Given the description of an element on the screen output the (x, y) to click on. 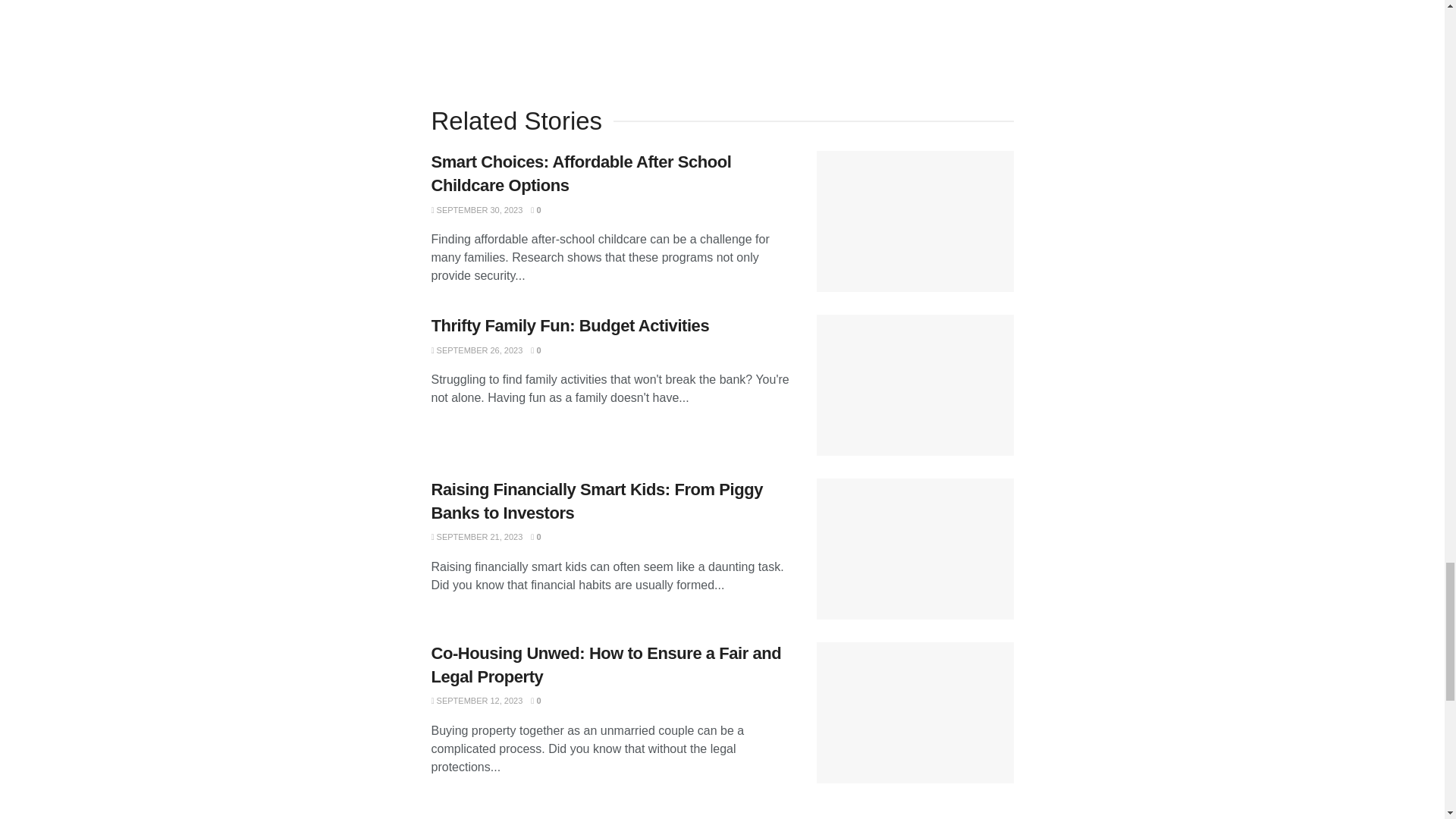
Smart Choices: Affordable After School Childcare Options (580, 173)
0 (535, 209)
SEPTEMBER 30, 2023 (476, 209)
